Given the description of an element on the screen output the (x, y) to click on. 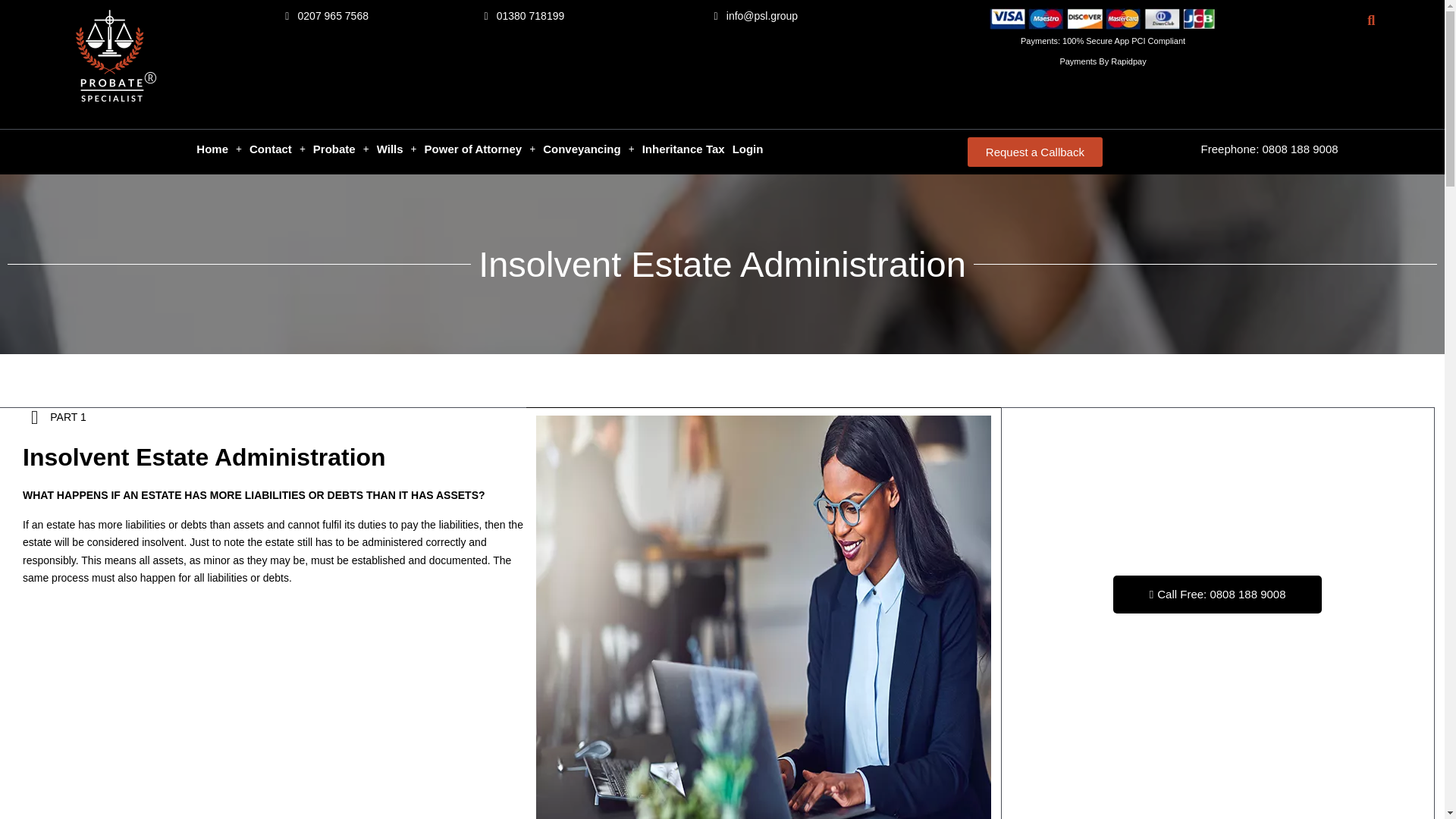
0207 965 7568 (324, 16)
Contact (277, 149)
Probate (340, 149)
01380 718199 (520, 16)
Payments By Rapidpay (1101, 61)
Home (219, 149)
